Given the description of an element on the screen output the (x, y) to click on. 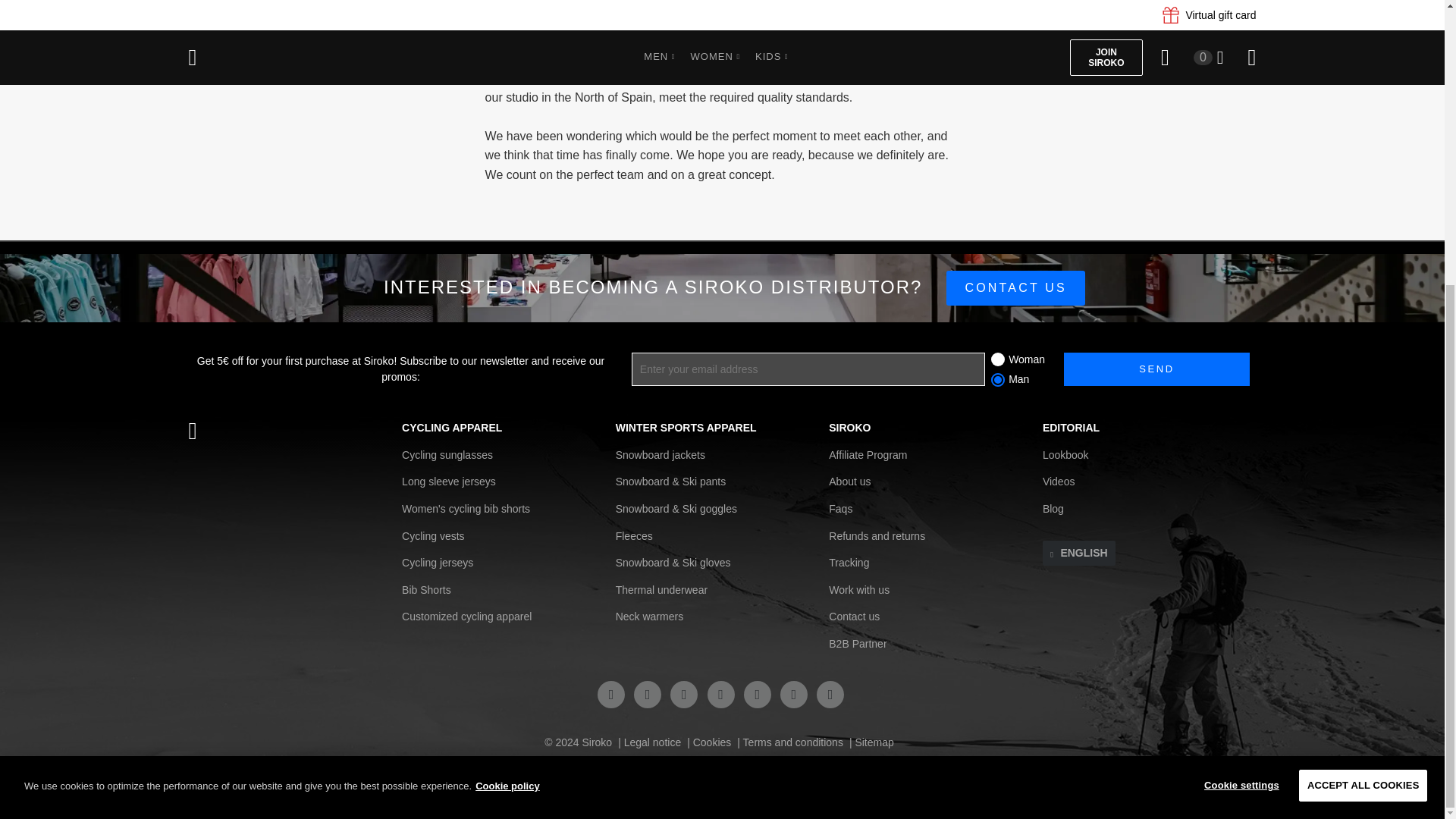
WINTER SPORTS APPAREL (686, 428)
Customized cycling apparel (466, 617)
Cycling vests (432, 536)
Long sleeve jerseys (448, 482)
Snowboard jackets (659, 455)
CYCLING APPAREL (451, 428)
Women's cycling bib shorts (465, 509)
Fleeces (633, 536)
Siroko.com (294, 431)
Cycling jerseys (437, 563)
Contact us (1015, 288)
Neck warmers (648, 617)
Bib Shorts (426, 590)
Cycling sunglasses (447, 455)
Thermal underwear (661, 590)
